Given the description of an element on the screen output the (x, y) to click on. 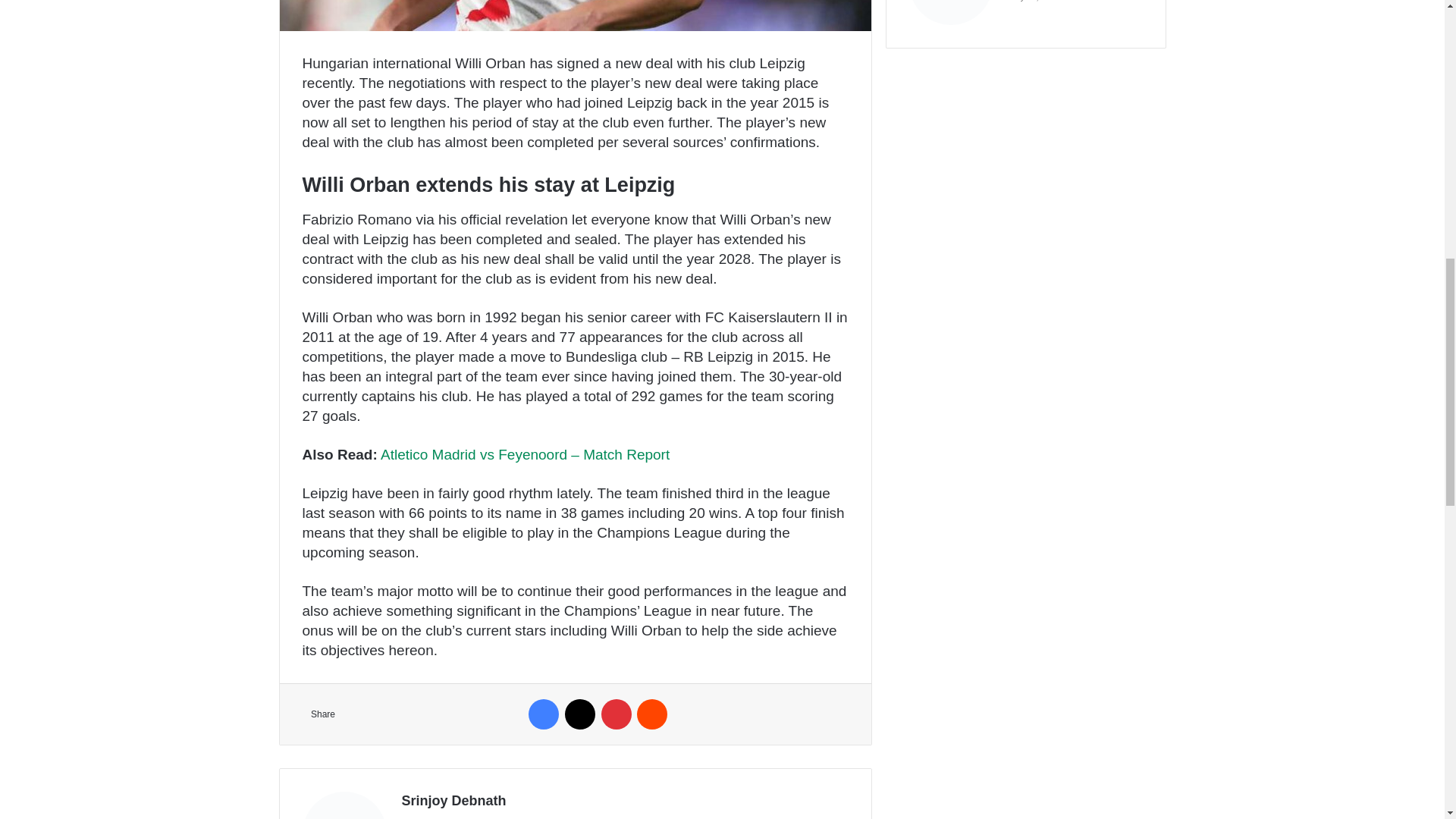
Willi Orban signs new deal with RB Leipzig 1 (574, 15)
